Given the description of an element on the screen output the (x, y) to click on. 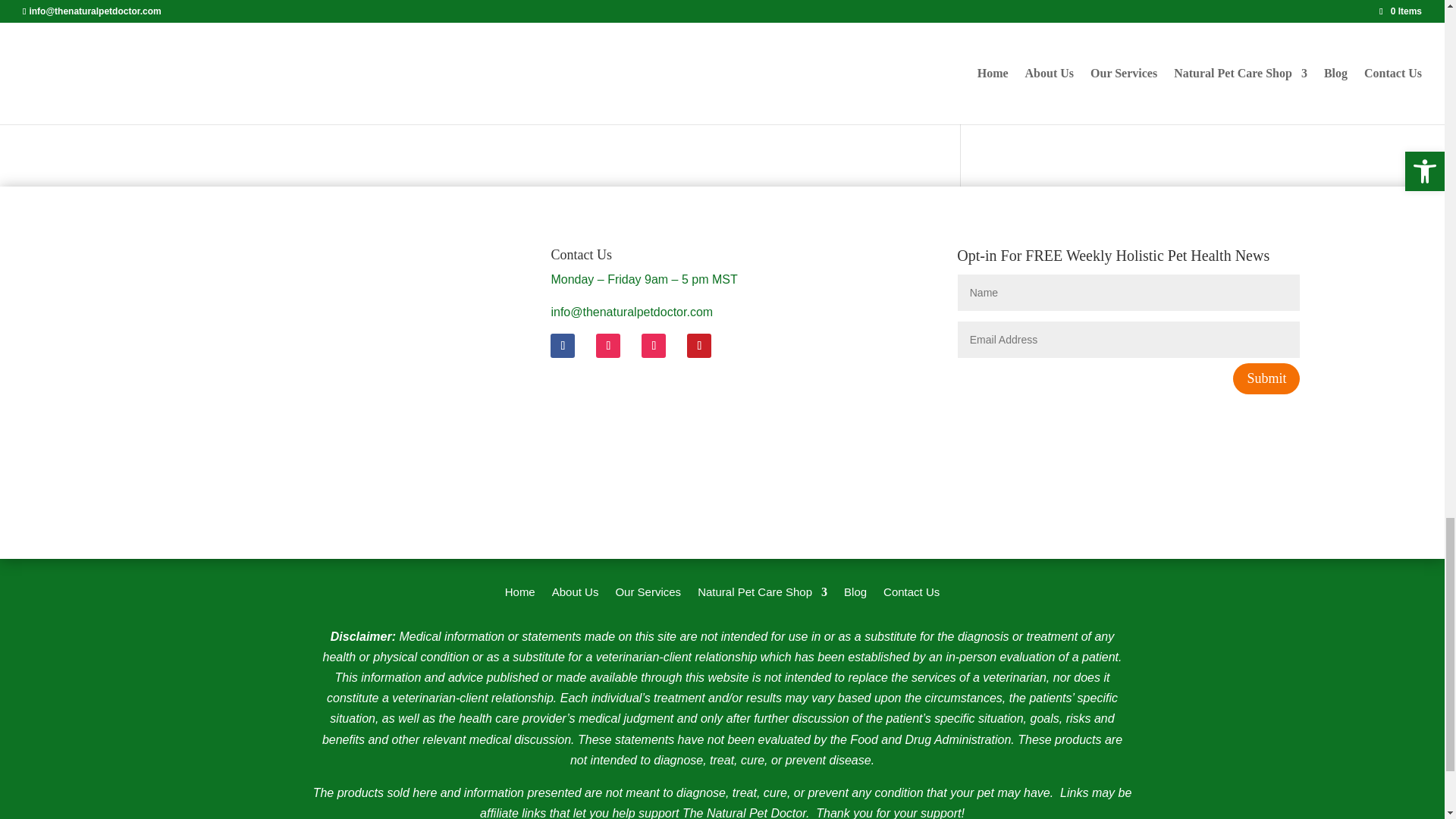
About Us (574, 595)
Natural Pet Care Shop (762, 595)
Our Services (647, 595)
Submit (1266, 378)
Follow on Pinterest (699, 345)
Follow on Facebook (562, 345)
Blog (855, 595)
Home (520, 595)
Follow on Youtube (653, 345)
Follow on Instagram (607, 345)
